Given the description of an element on the screen output the (x, y) to click on. 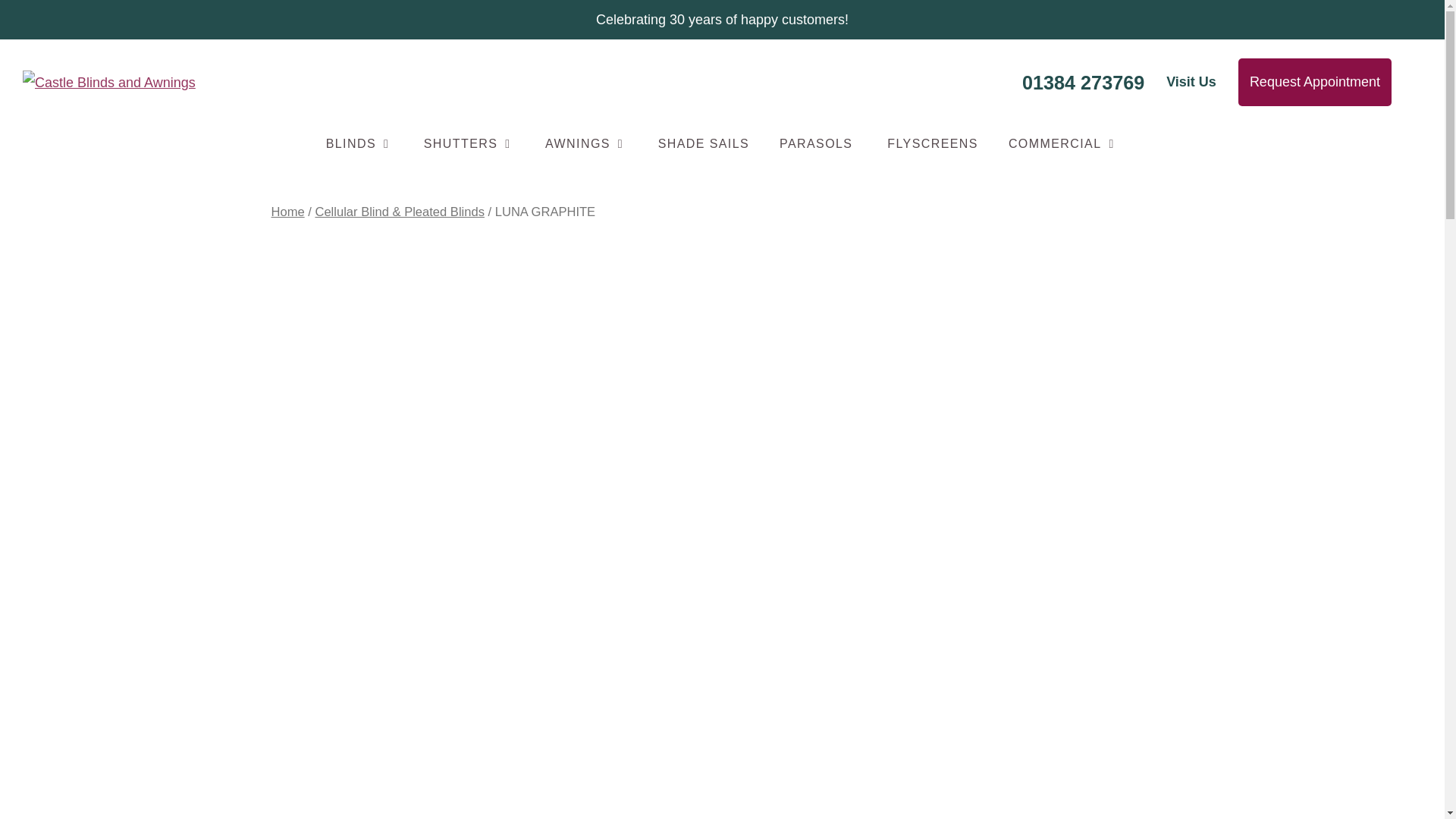
01384 273769 (1083, 82)
Visit Us (1190, 82)
Request Appointment (1315, 82)
